Given the description of an element on the screen output the (x, y) to click on. 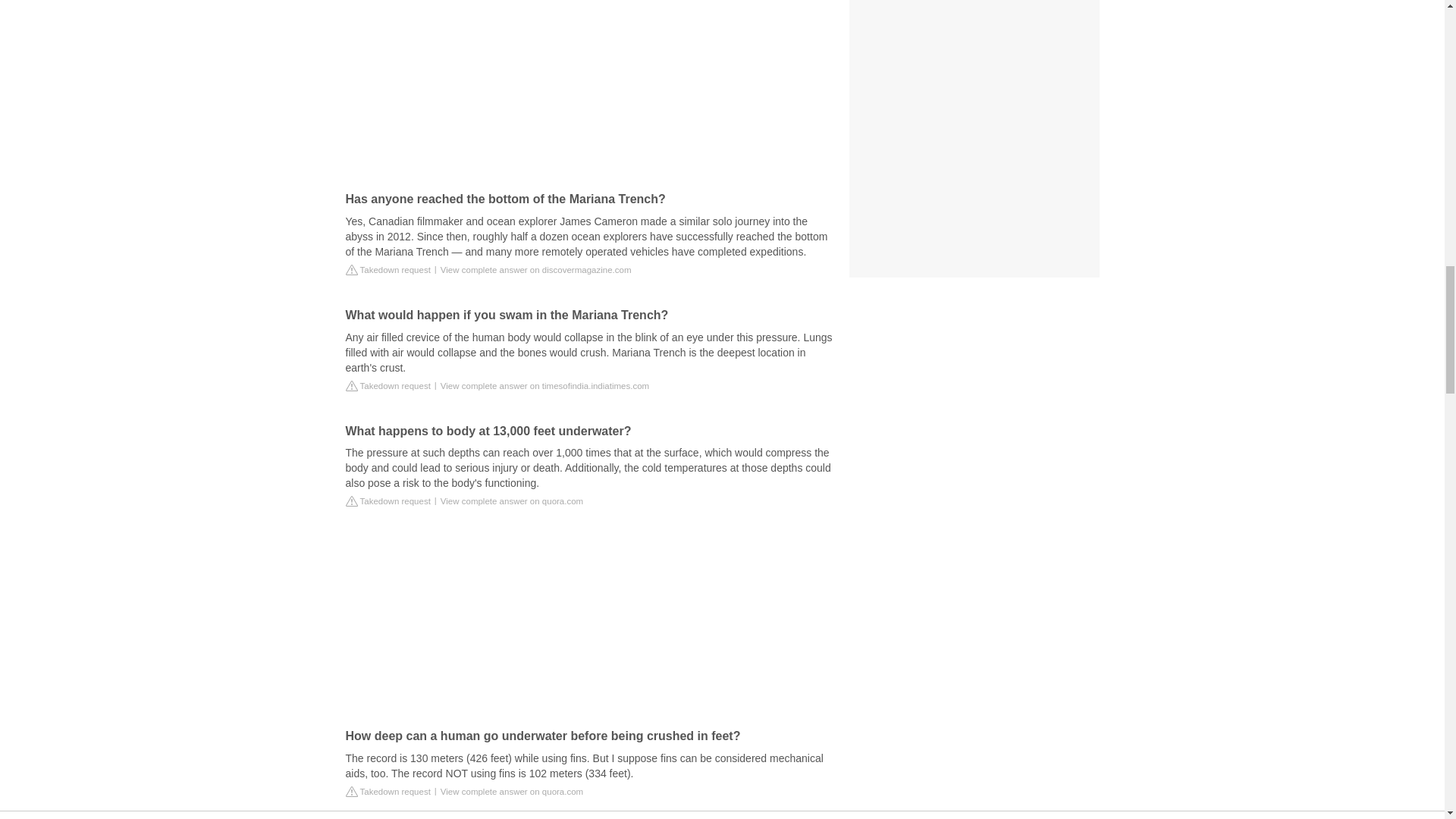
China is Drilling the World's Deepest Hole - Here's Why (592, 81)
